Given the description of an element on the screen output the (x, y) to click on. 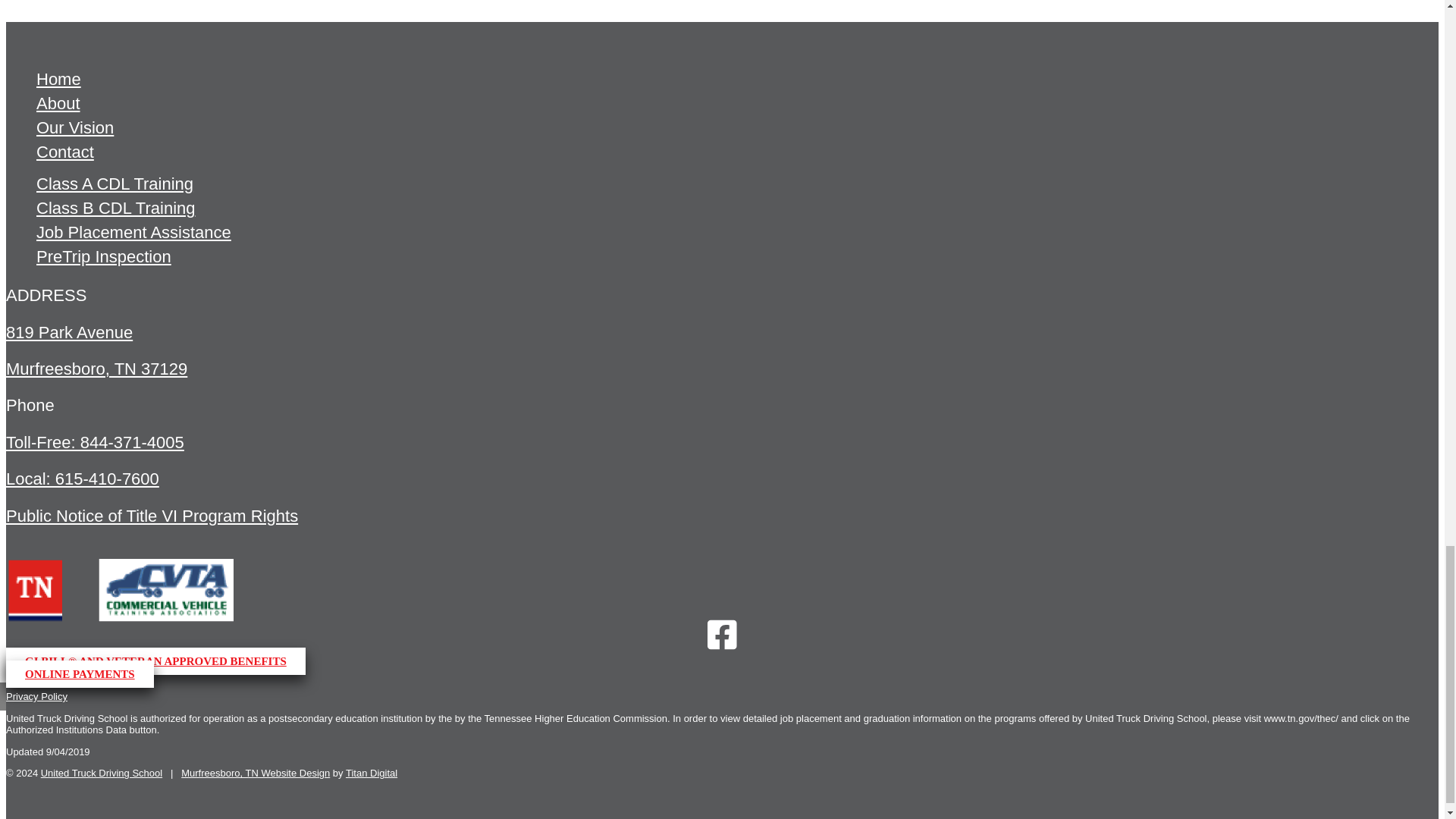
Contact (65, 153)
Class A CDL Training (114, 185)
About (58, 105)
Our Vision (74, 128)
Home (58, 80)
